Given the description of an element on the screen output the (x, y) to click on. 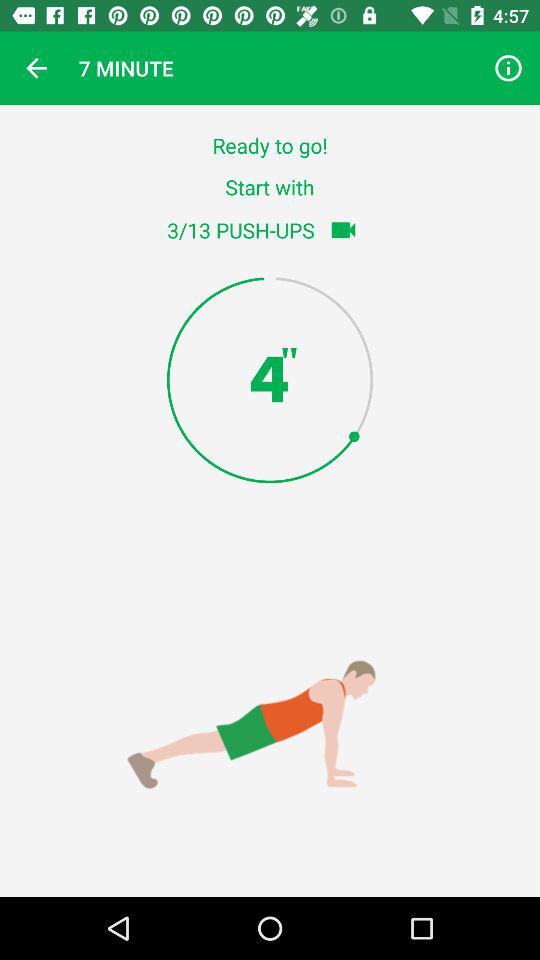
turn off icon to the right of 3 13 push (343, 230)
